Given the description of an element on the screen output the (x, y) to click on. 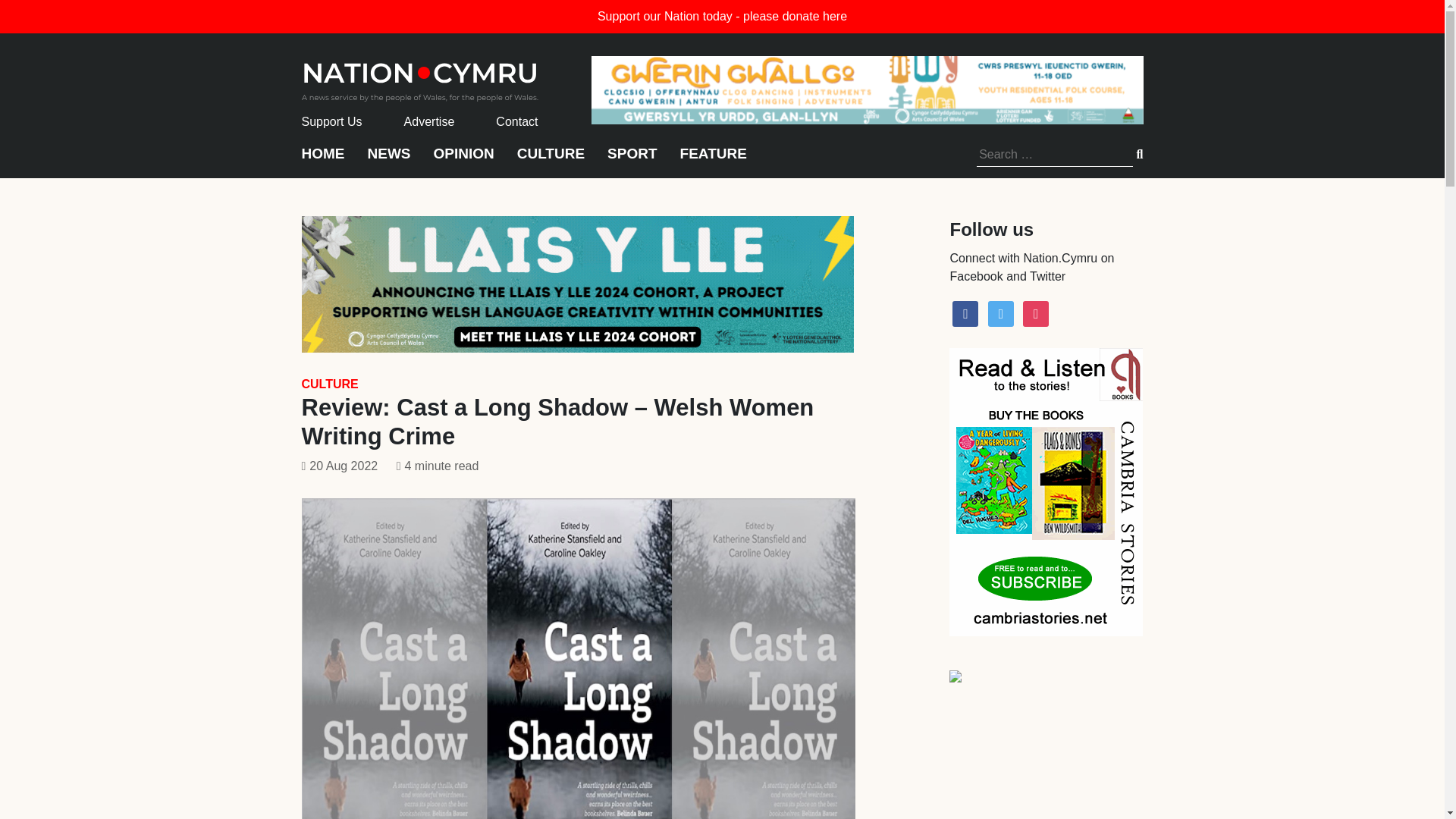
CULTURE (329, 383)
Support Us (331, 121)
HOME (323, 160)
CULTURE (550, 160)
SPORT (631, 160)
NEWS (388, 160)
OPINION (464, 160)
FEATURE (712, 160)
home (419, 77)
Contact (516, 121)
